Given the description of an element on the screen output the (x, y) to click on. 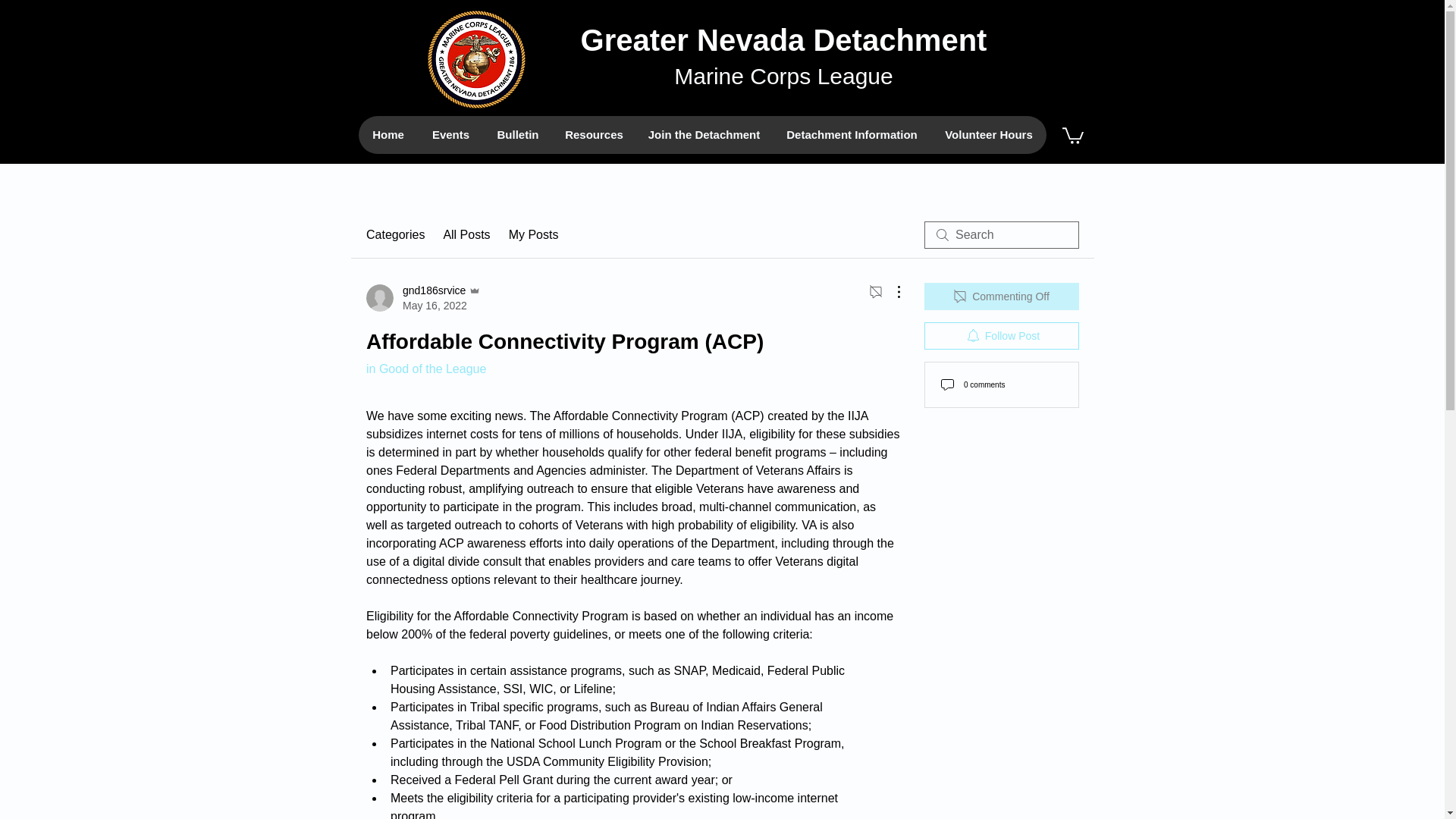
Commenting Off (1001, 296)
All Posts (465, 235)
Events (451, 134)
Bulletin (516, 134)
My Posts (533, 235)
in Good of the League (426, 368)
Volunteer Hours (988, 134)
Join the Detachment (703, 134)
Follow Post (1001, 335)
Categories (395, 235)
